Given the description of an element on the screen output the (x, y) to click on. 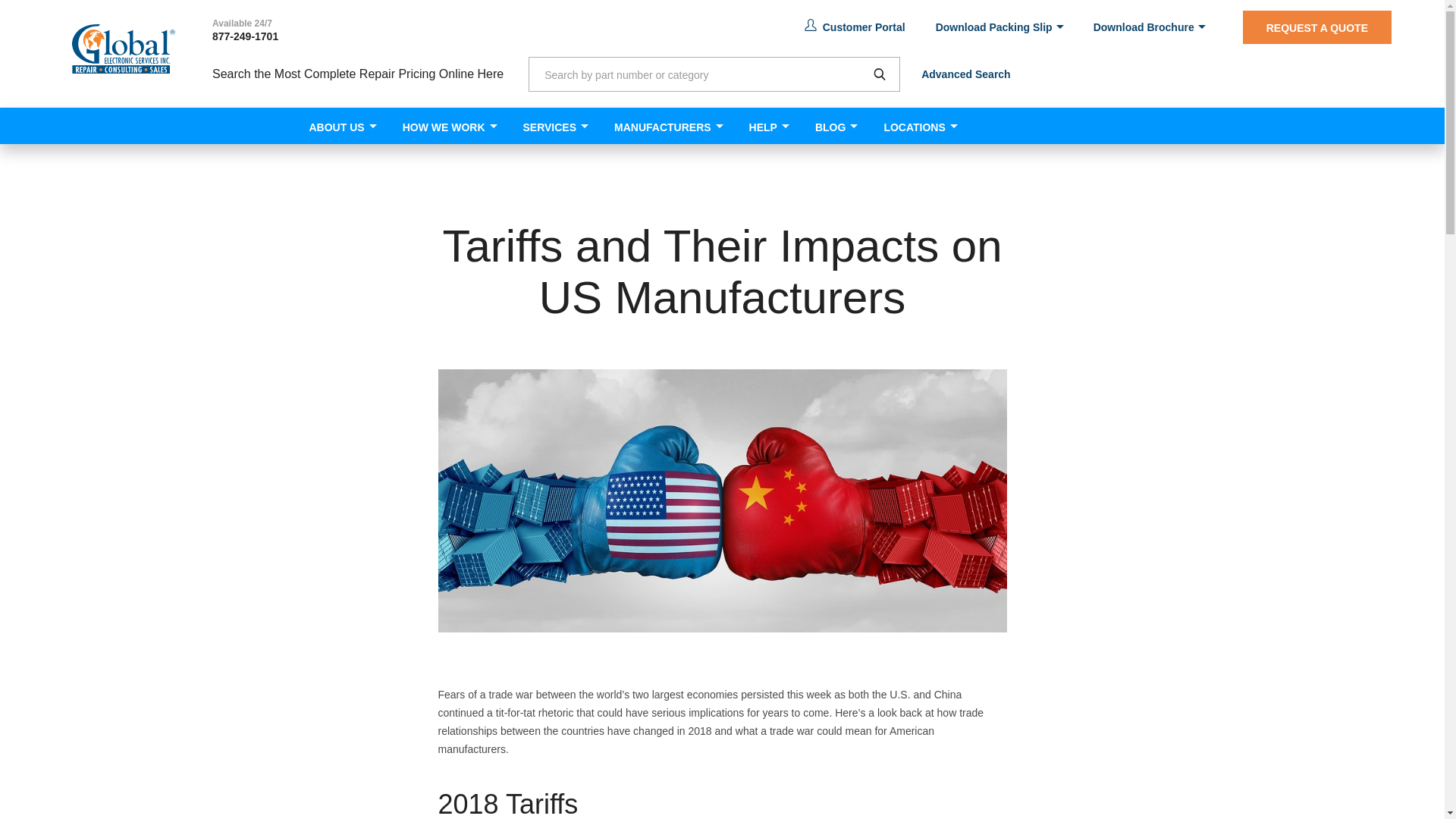
SERVICES (549, 125)
Download Packing Slip (999, 27)
Opens in a new window (855, 27)
HOW WE WORK (443, 125)
877-249-1701 (245, 36)
Advanced Search (965, 73)
Customer Portal (855, 27)
REQUEST A QUOTE (1317, 27)
ABOUT US (335, 125)
Download Brochure (1149, 27)
